Given the description of an element on the screen output the (x, y) to click on. 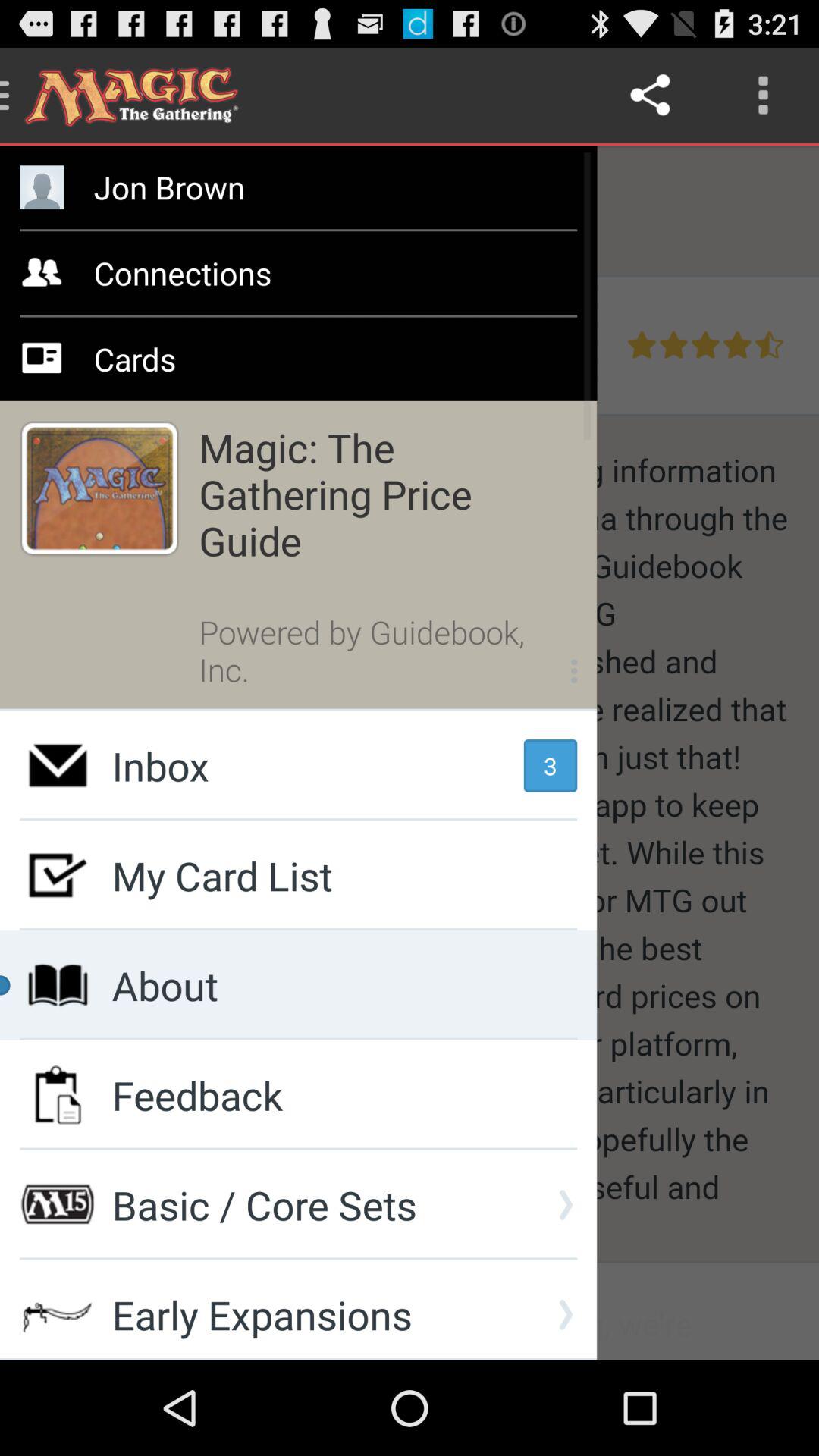
click on the share icon (651, 95)
